Given the description of an element on the screen output the (x, y) to click on. 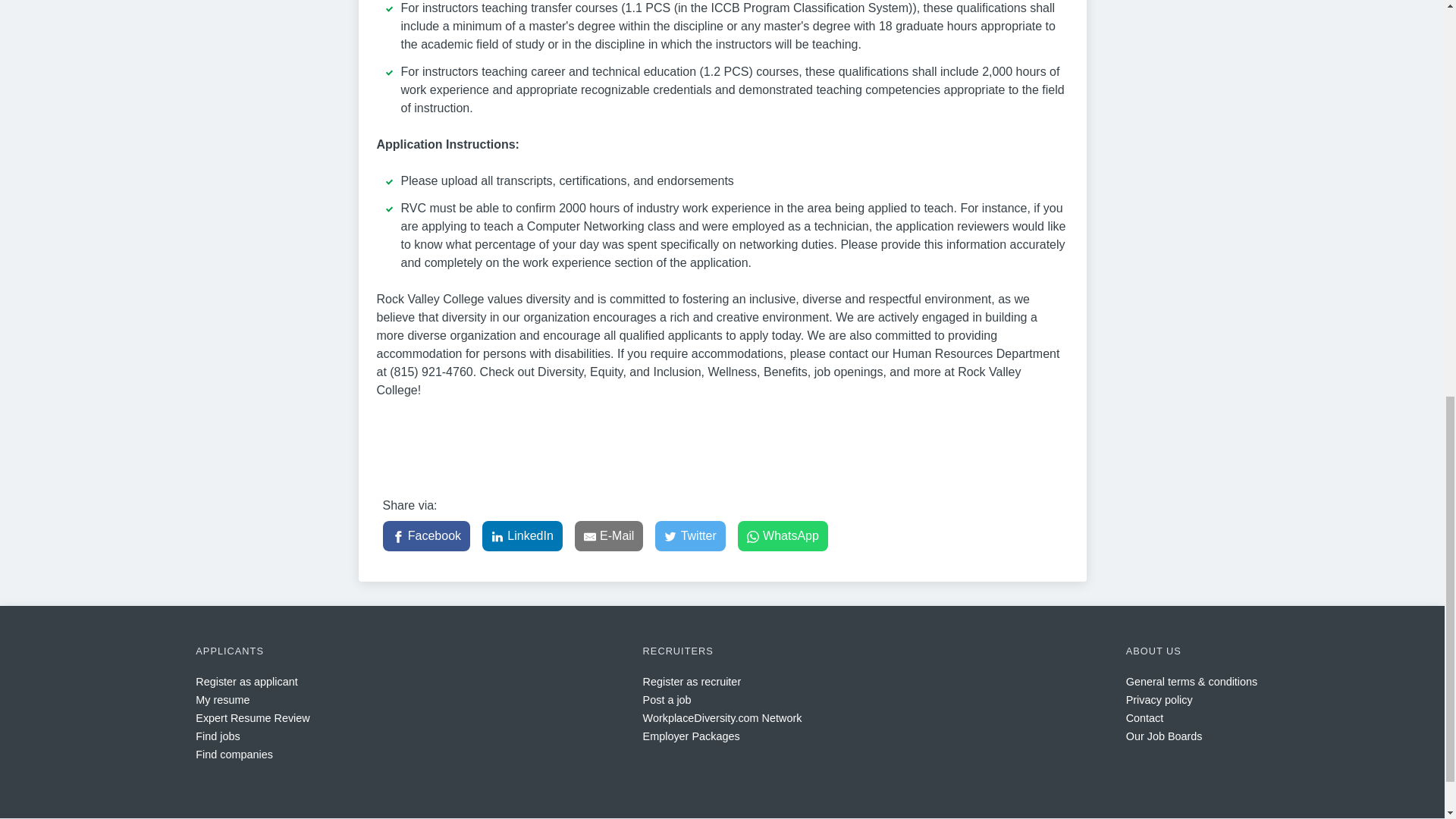
Find jobs (217, 736)
Find companies (234, 754)
Expert Resume Review (251, 717)
Privacy policy (1158, 699)
Register as recruiter (692, 681)
E-Mail (609, 535)
Our Job Boards (1163, 736)
Twitter (690, 535)
WorkplaceDiversity.com Network (722, 717)
Register as applicant (246, 681)
Post a job (667, 699)
My resume (221, 699)
Employer Packages (691, 736)
LinkedIn (521, 535)
Facebook (425, 535)
